Given the description of an element on the screen output the (x, y) to click on. 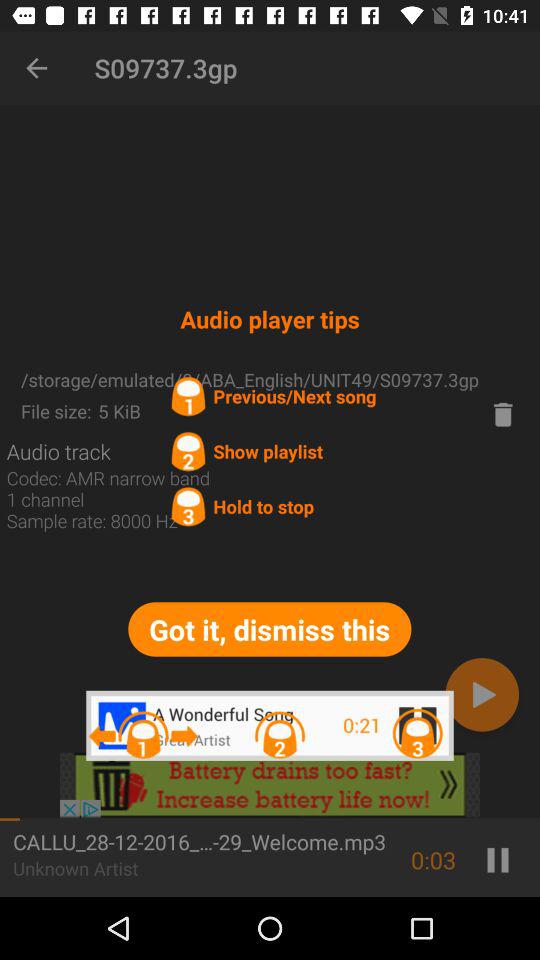
tap the 0:03 item (433, 860)
